Given the description of an element on the screen output the (x, y) to click on. 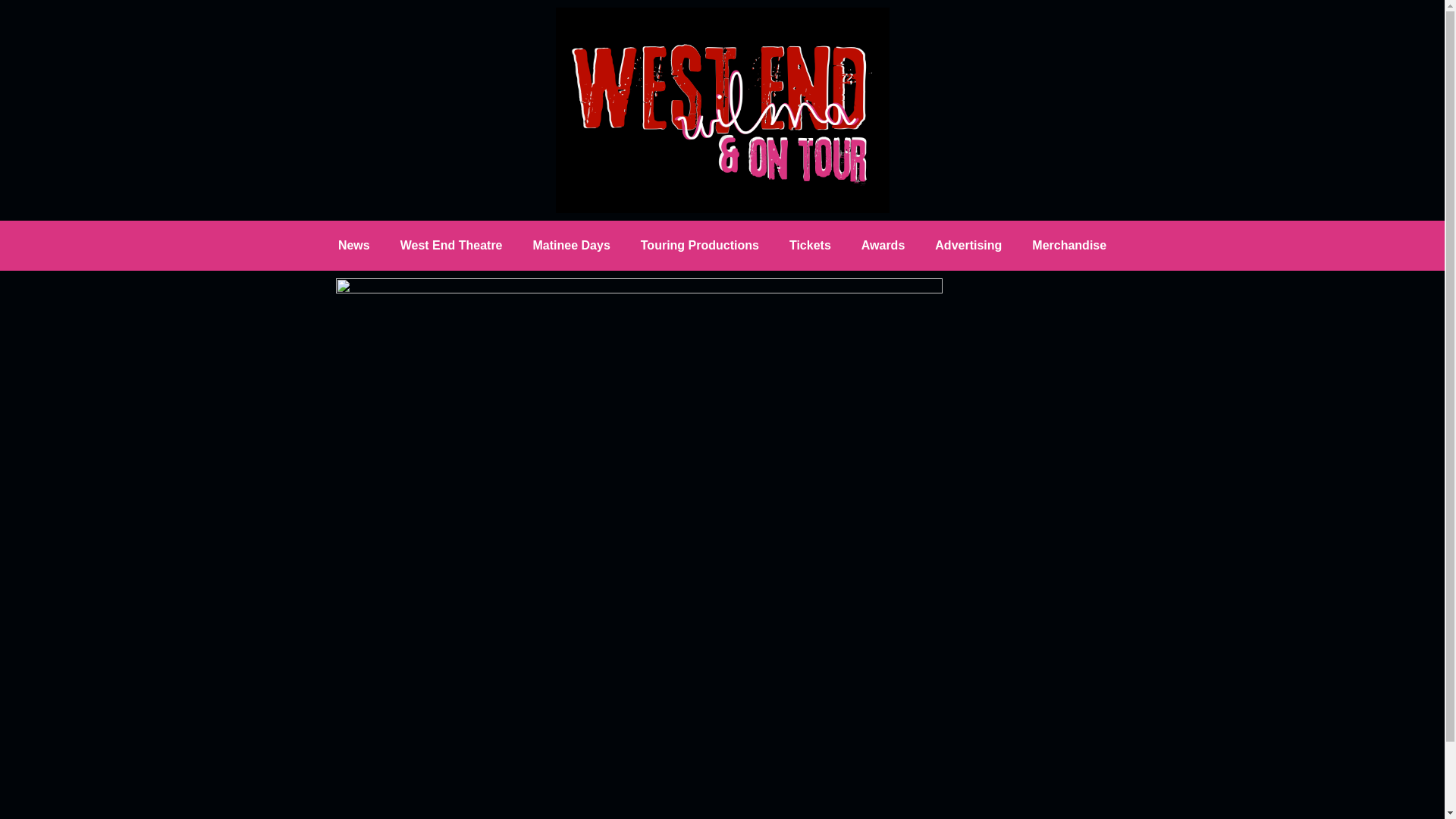
Merchandise (1068, 245)
West End Theatre (451, 245)
Touring Productions (700, 245)
News (354, 245)
Awards (882, 245)
Tickets (809, 245)
Advertising (968, 245)
Matinee Days (572, 245)
